Given the description of an element on the screen output the (x, y) to click on. 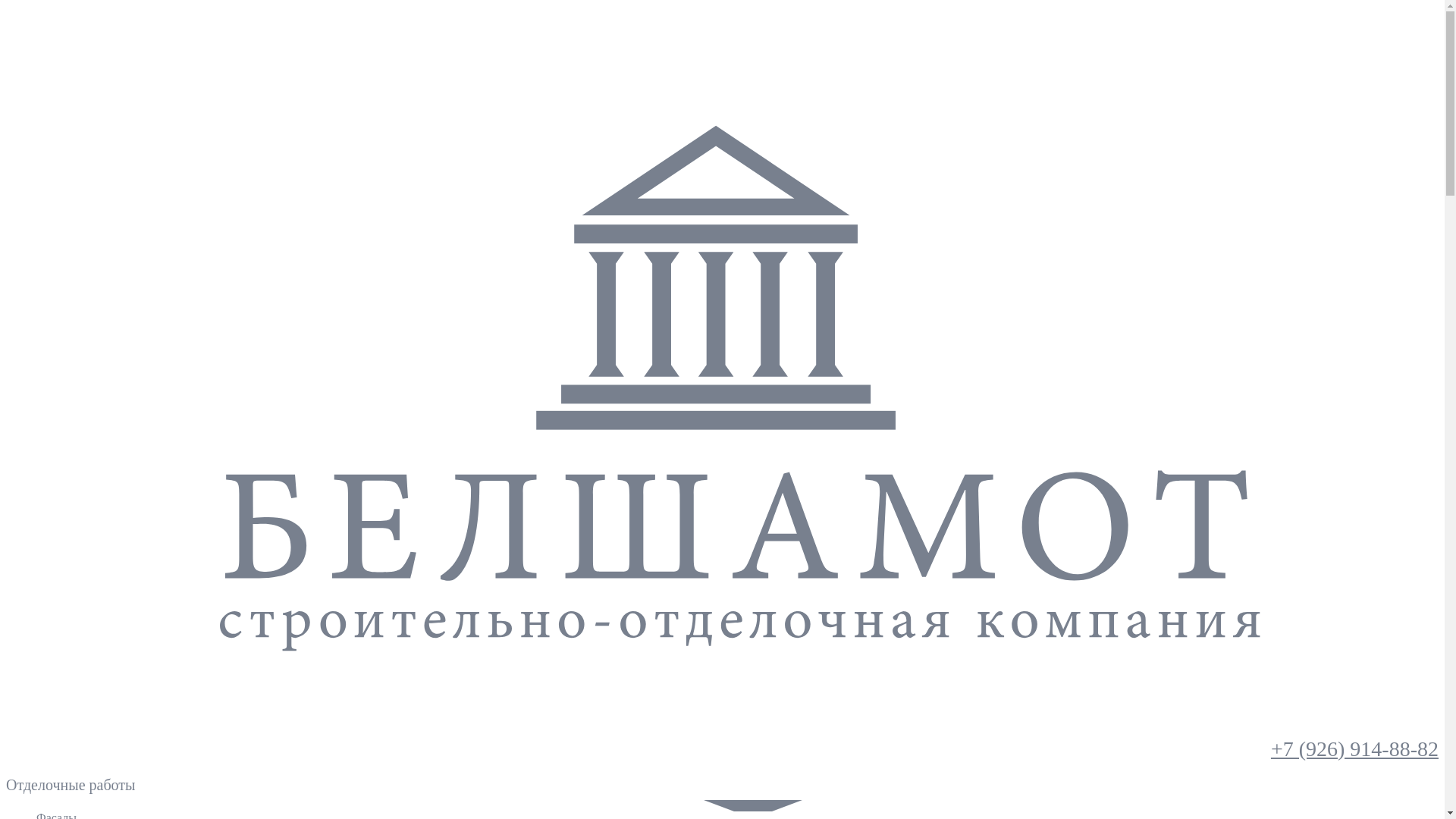
+7 (926) 914-88-82 Element type: text (1354, 748)
